Given the description of an element on the screen output the (x, y) to click on. 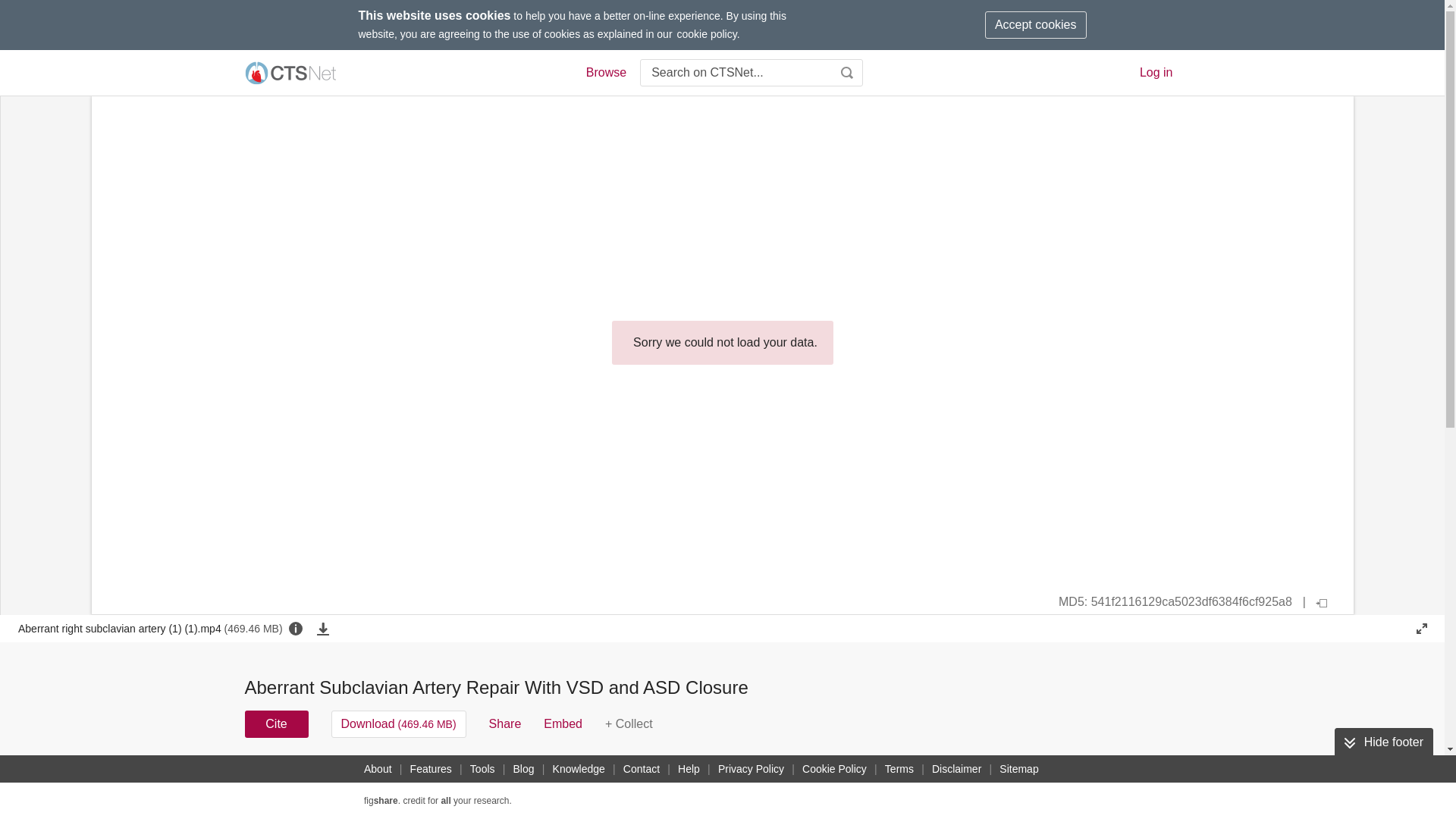
Embed (562, 723)
Browse (605, 72)
cookie policy (706, 33)
hide control bar (1322, 601)
USAGE METRICS (976, 778)
Cite (275, 723)
541f2116129ca5023df6384f6cf925a8 (1182, 601)
Features (431, 769)
you need to log in first (628, 723)
Accept cookies (1035, 24)
